Given the description of an element on the screen output the (x, y) to click on. 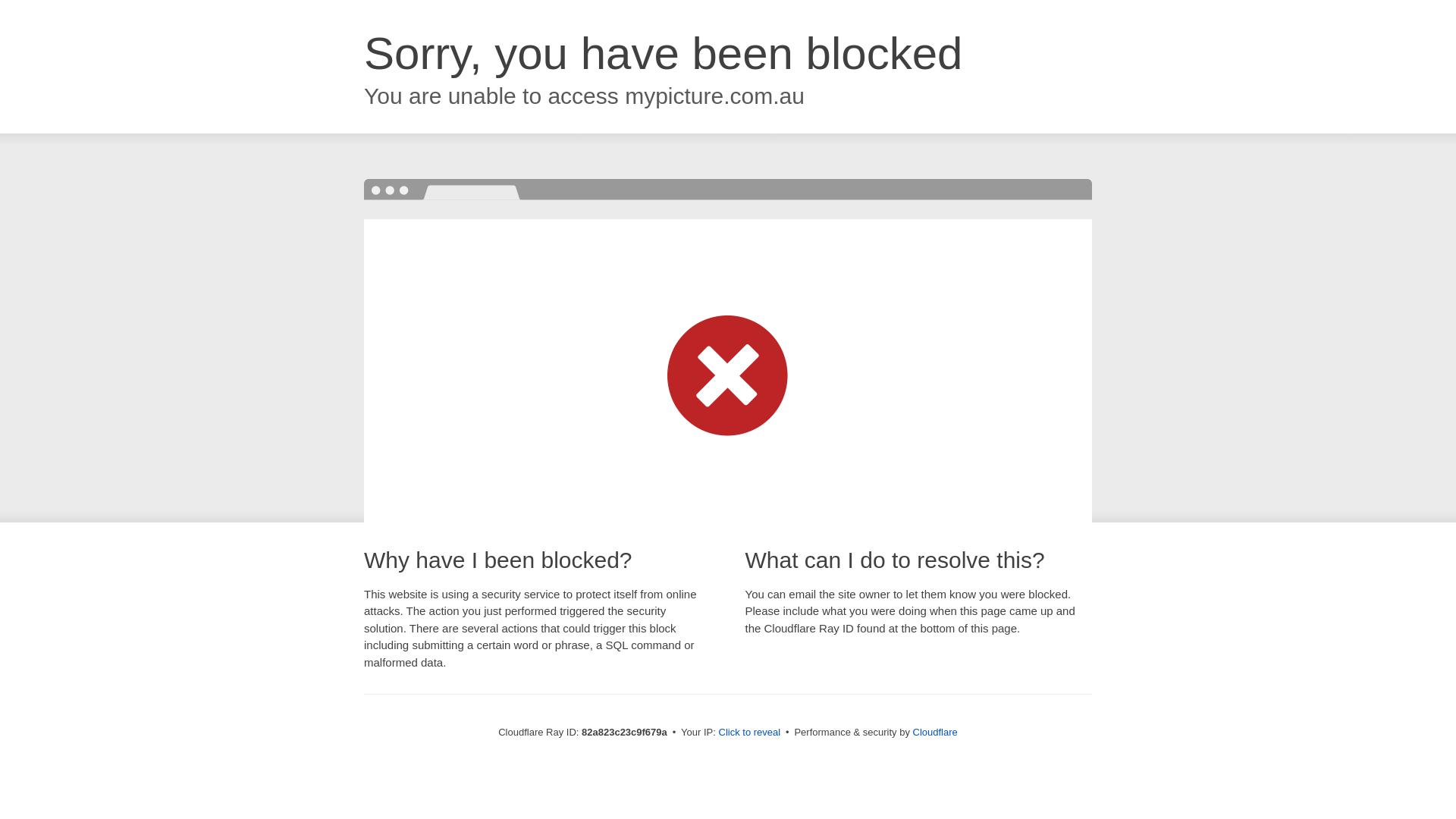
Cloudflare Element type: text (935, 731)
Click to reveal Element type: text (749, 732)
